Given the description of an element on the screen output the (x, y) to click on. 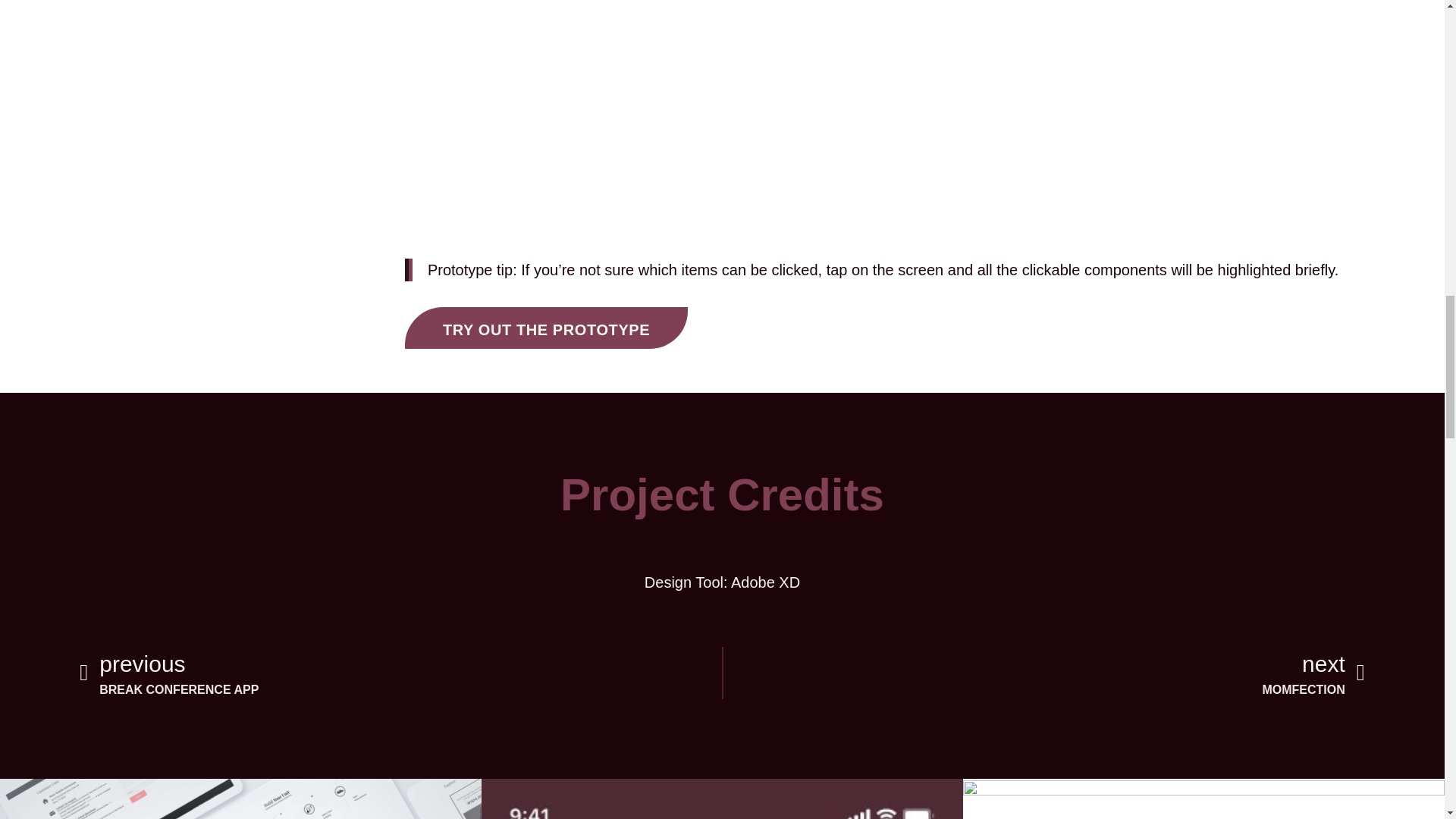
TRY OUT THE PROTOTYPE (1044, 673)
